Given the description of an element on the screen output the (x, y) to click on. 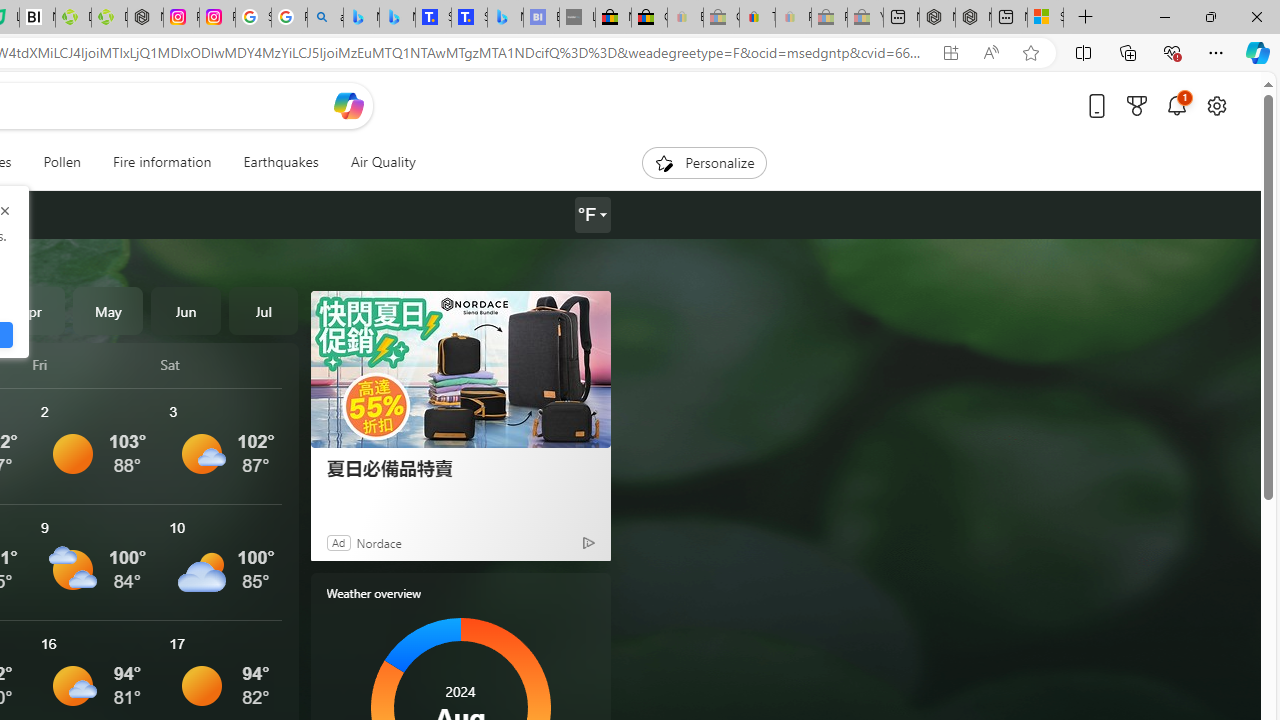
Microsoft Bing Travel - Shangri-La Hotel Bangkok (505, 17)
Weather settings (591, 215)
Air Quality (375, 162)
Yard, Garden & Outdoor Living - Sleeping (865, 17)
Descarga Driver Updater (109, 17)
